Given the description of an element on the screen output the (x, y) to click on. 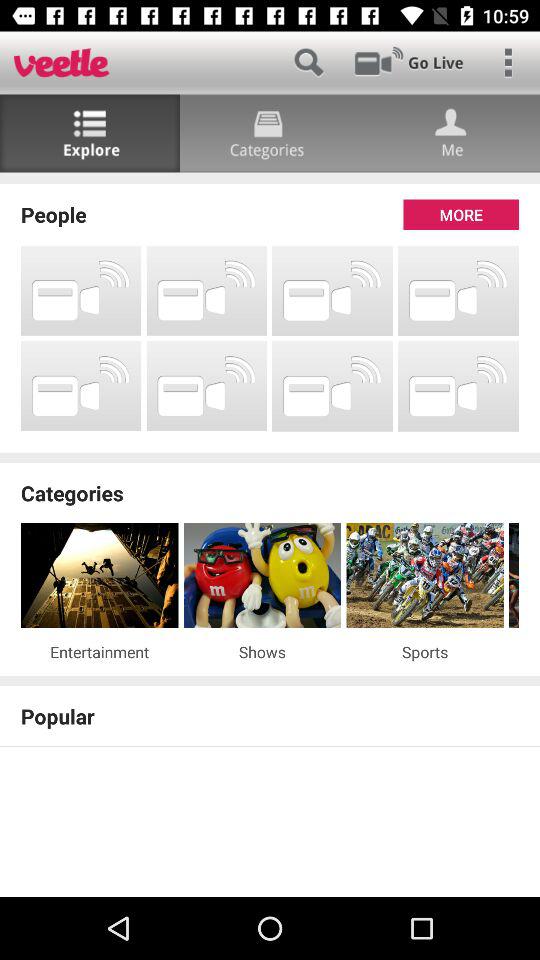
search function (308, 62)
